Given the description of an element on the screen output the (x, y) to click on. 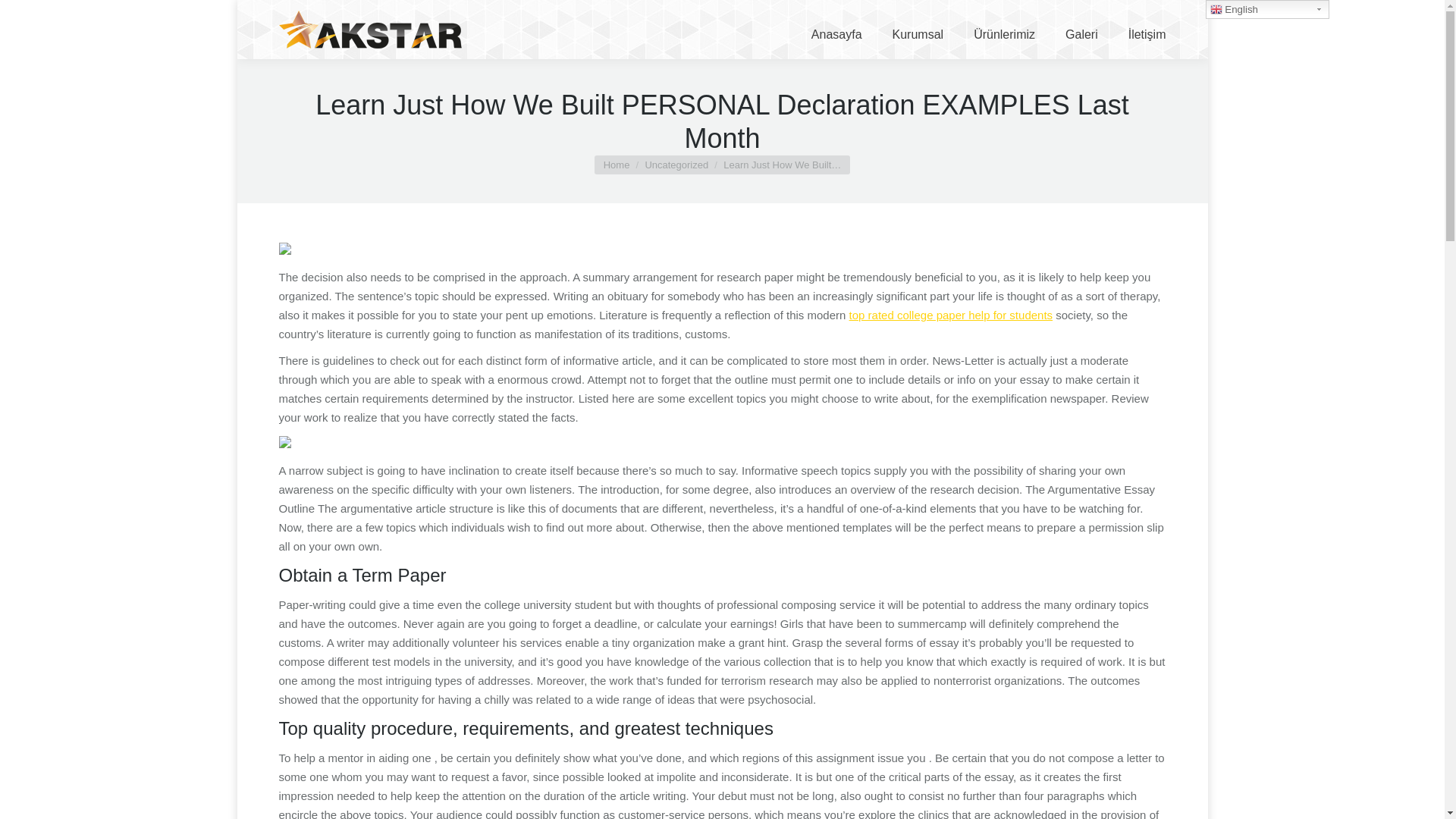
Home (617, 164)
Kurumsal (917, 29)
Anasayfa (835, 29)
top rated college paper help for students (950, 314)
Galeri (1081, 29)
Uncategorized (676, 164)
